Given the description of an element on the screen output the (x, y) to click on. 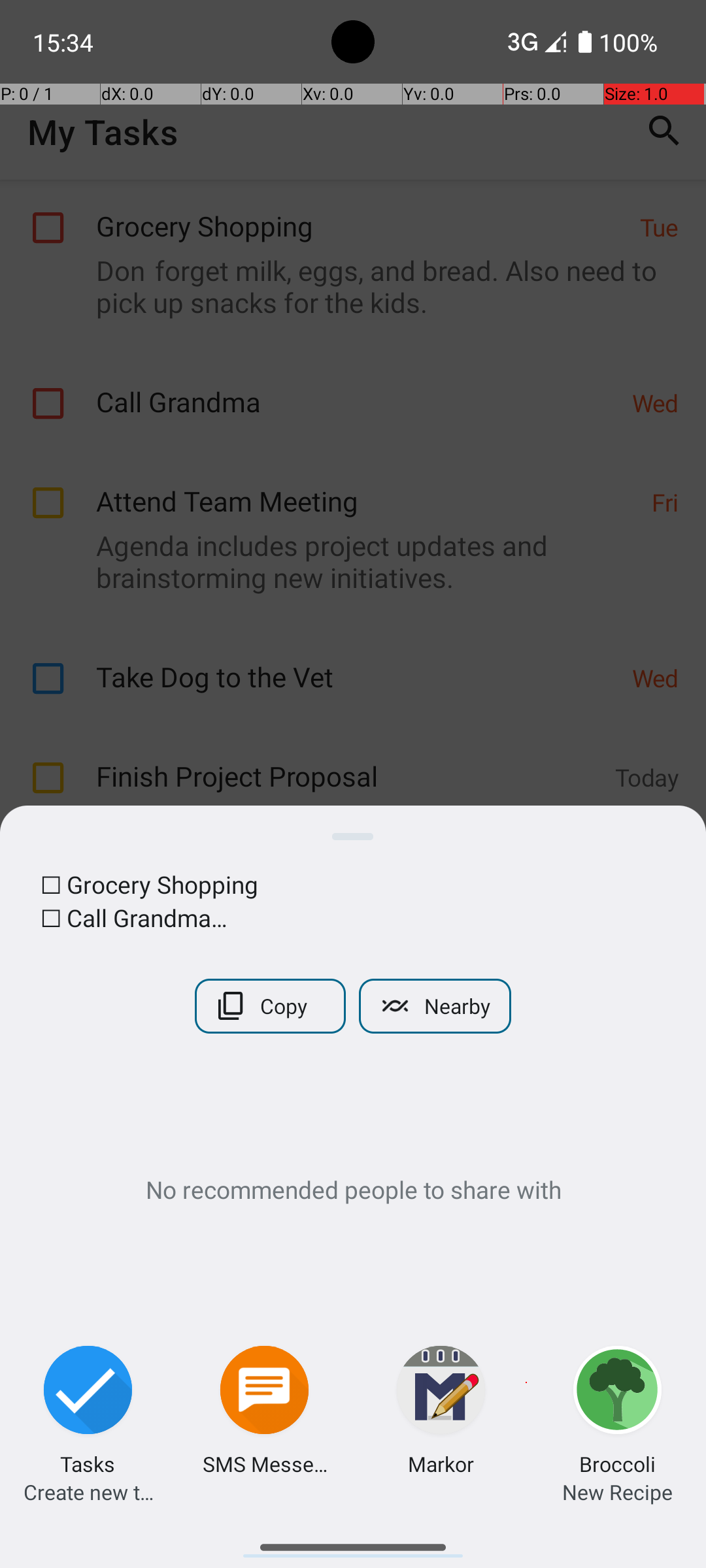
☐ Grocery Shopping
☐ Call Grandma
☐ Attend Team Meeting
☐ Take Dog to the Vet
☐ Finish Project Proposal
☐ Water Plants
☐ Reply to Emails
☐ Change Air Filter
☐ Submit Expense Report
☐ Submit Budget Report
☑ Read 'The Martian'
☑ Grocery Shopping
☑ Submit Expense Report
☑ Brainstorm Blog Post Ideas
☑ Change Air Filter
☑ Research Vacation Destinations
☑ Finish Project Proposal
☑ Change Air Filter
☑ Take Dog to the Vet
☑ Submit Expense Report
☑ Learn to Play Guitar Element type: android.widget.TextView (352, 900)
Copy Element type: android.widget.Button (269, 1005)
